Given the description of an element on the screen output the (x, y) to click on. 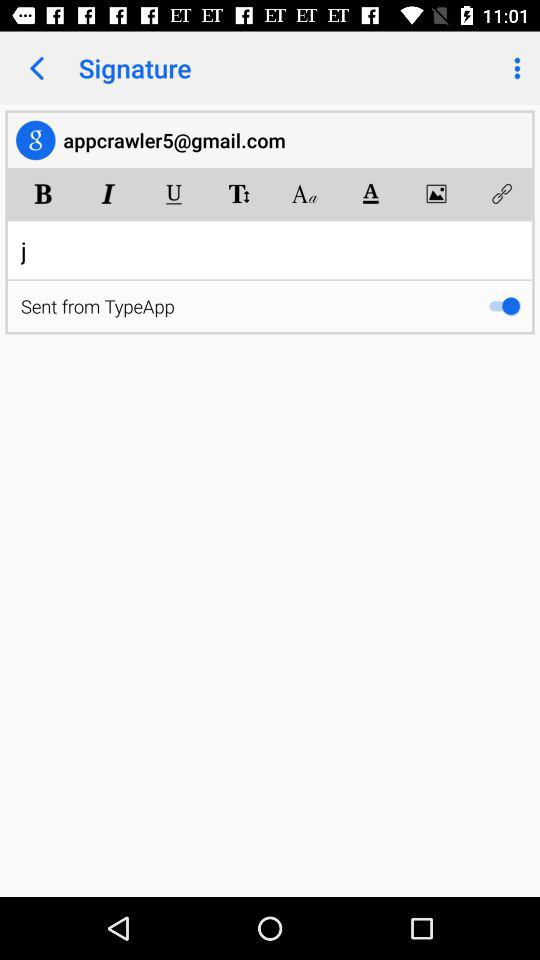
open j item (269, 250)
